Given the description of an element on the screen output the (x, y) to click on. 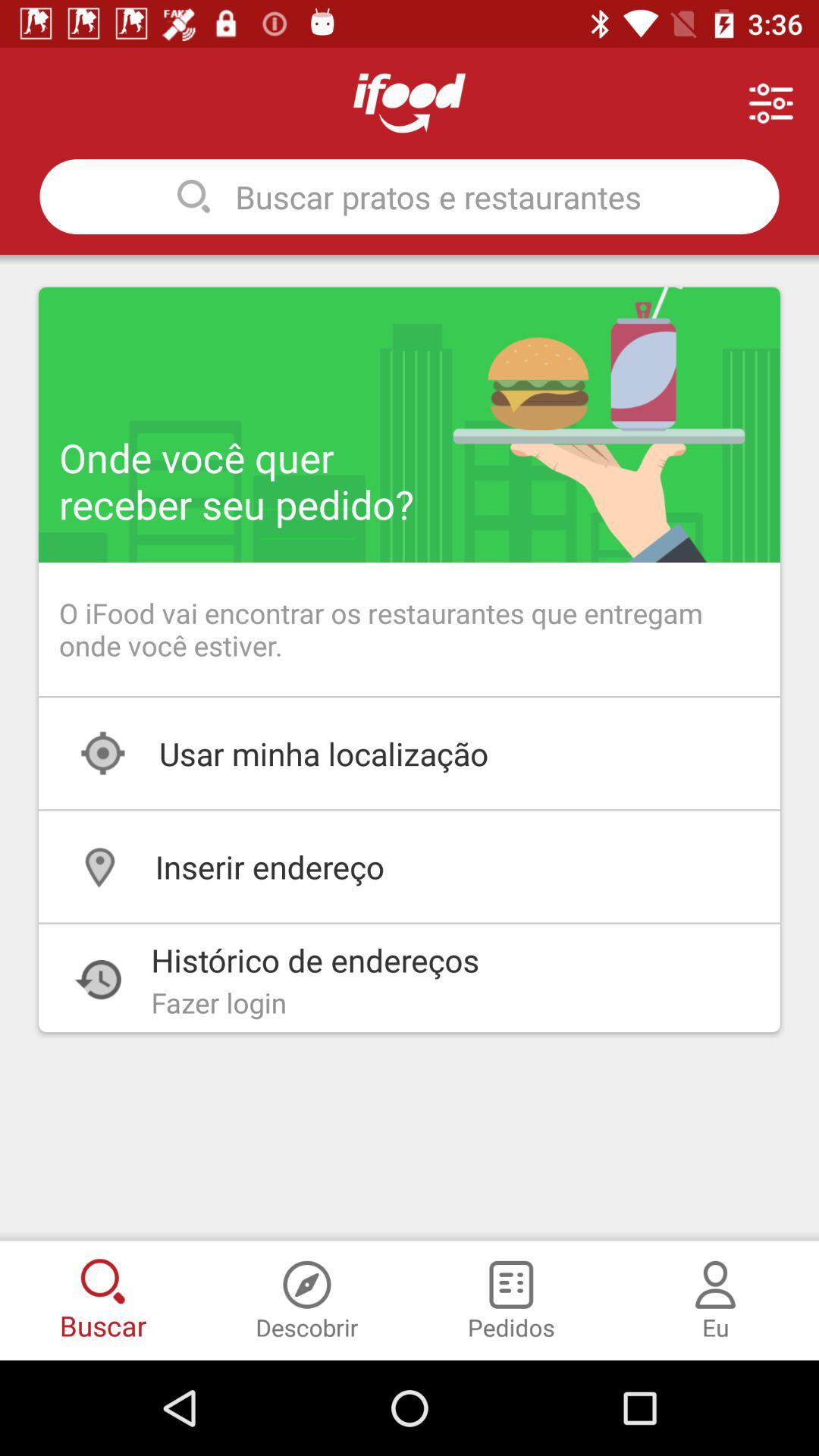
click on the history icon which is just below the location icon (98, 979)
click on the eu icon (715, 1276)
click on the option which is on top right corner (771, 103)
click on the icon which is just above the location icon (101, 753)
